Given the description of an element on the screen output the (x, y) to click on. 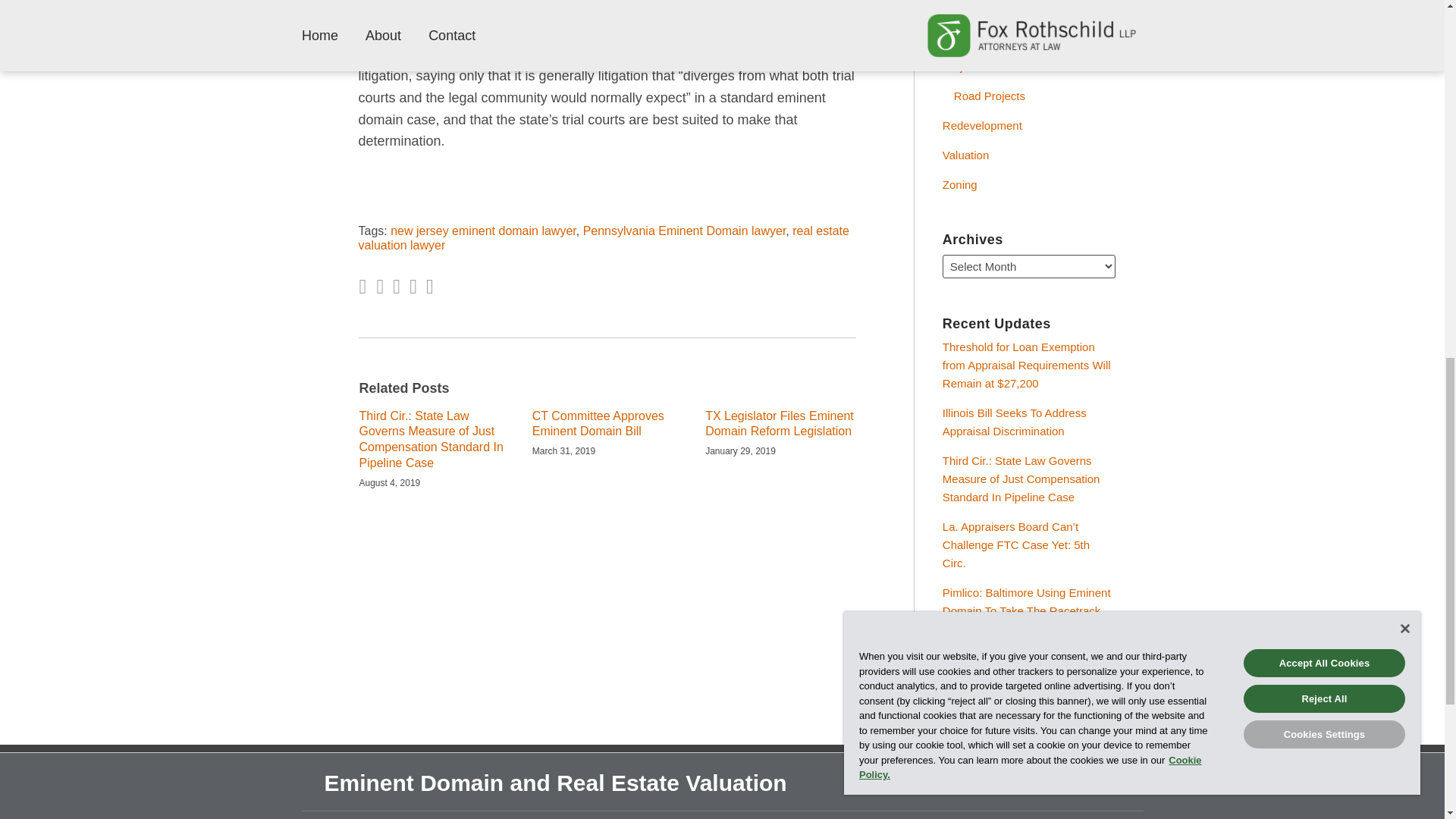
Redevelopment (982, 124)
PennDOT (967, 36)
Pennsylvania Eminent Domain lawyer (684, 230)
real estate valuation lawyer (603, 237)
TX Legislator Files Eminent Domain Reform Legislation (780, 424)
Projects (1028, 66)
Zoning (959, 184)
CT Committee Approves Eminent Domain Bill (607, 424)
new jersey eminent domain lawyer (483, 230)
Lenders (963, 6)
Road Projects (989, 95)
Valuation (965, 154)
